Given the description of an element on the screen output the (x, y) to click on. 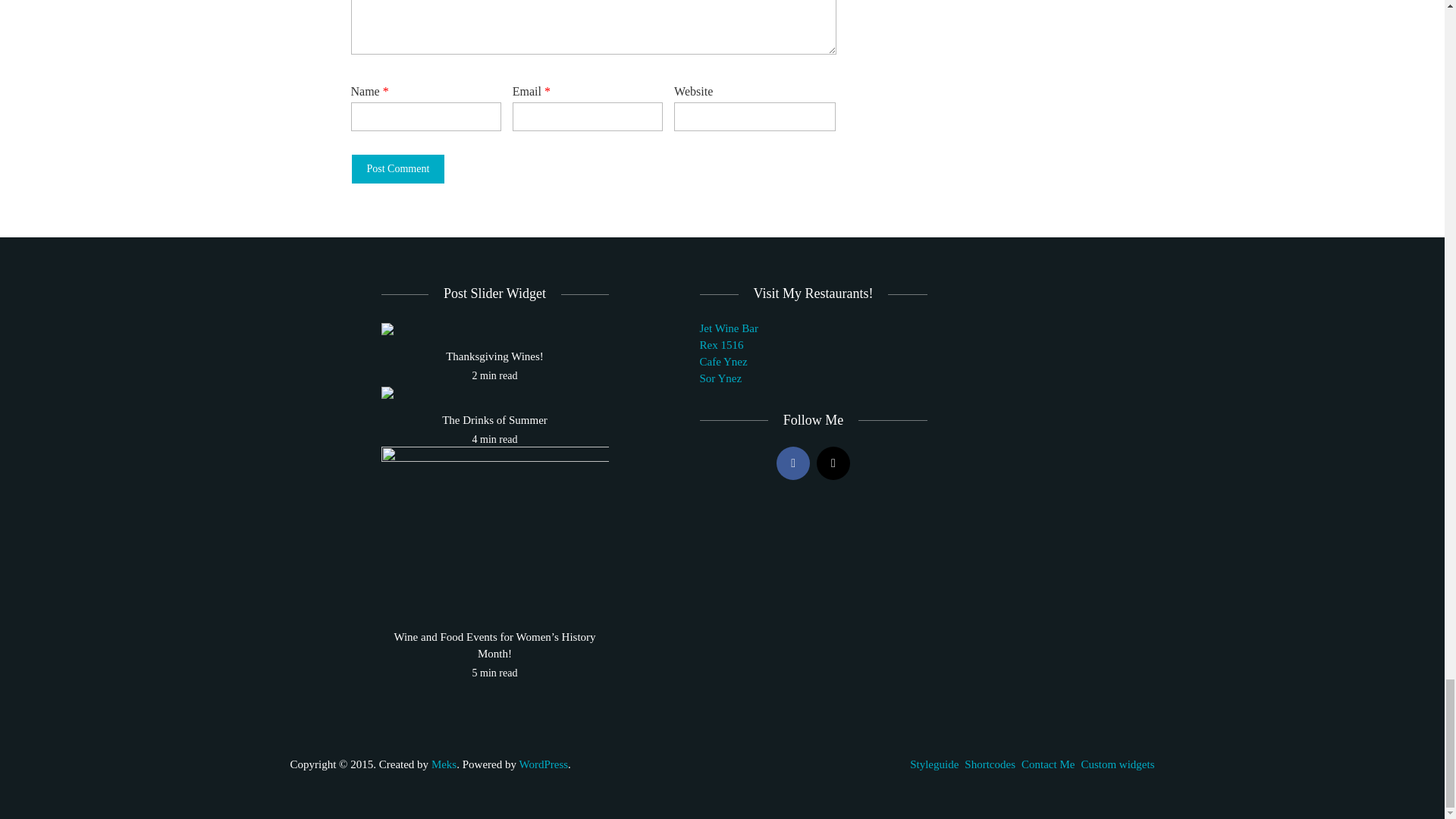
Thanksgiving Wines! (386, 328)
The Drinks of Summer (494, 419)
Thanksgiving Wines! (494, 356)
Facebook (792, 462)
Post Comment (397, 168)
Instagram (833, 462)
The Drinks of Summer (386, 391)
